Given the description of an element on the screen output the (x, y) to click on. 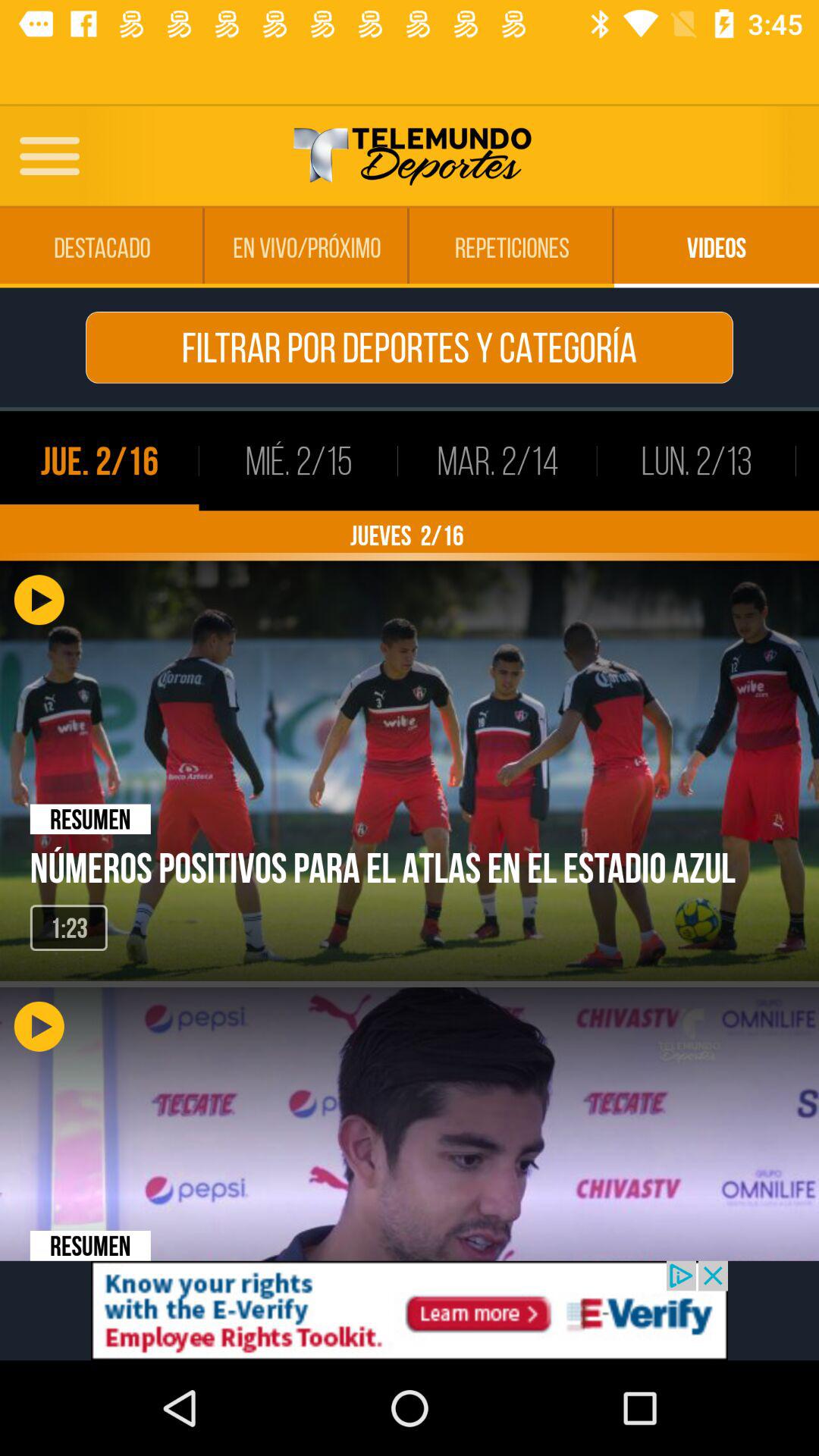
advertisement banner (409, 1310)
